Given the description of an element on the screen output the (x, y) to click on. 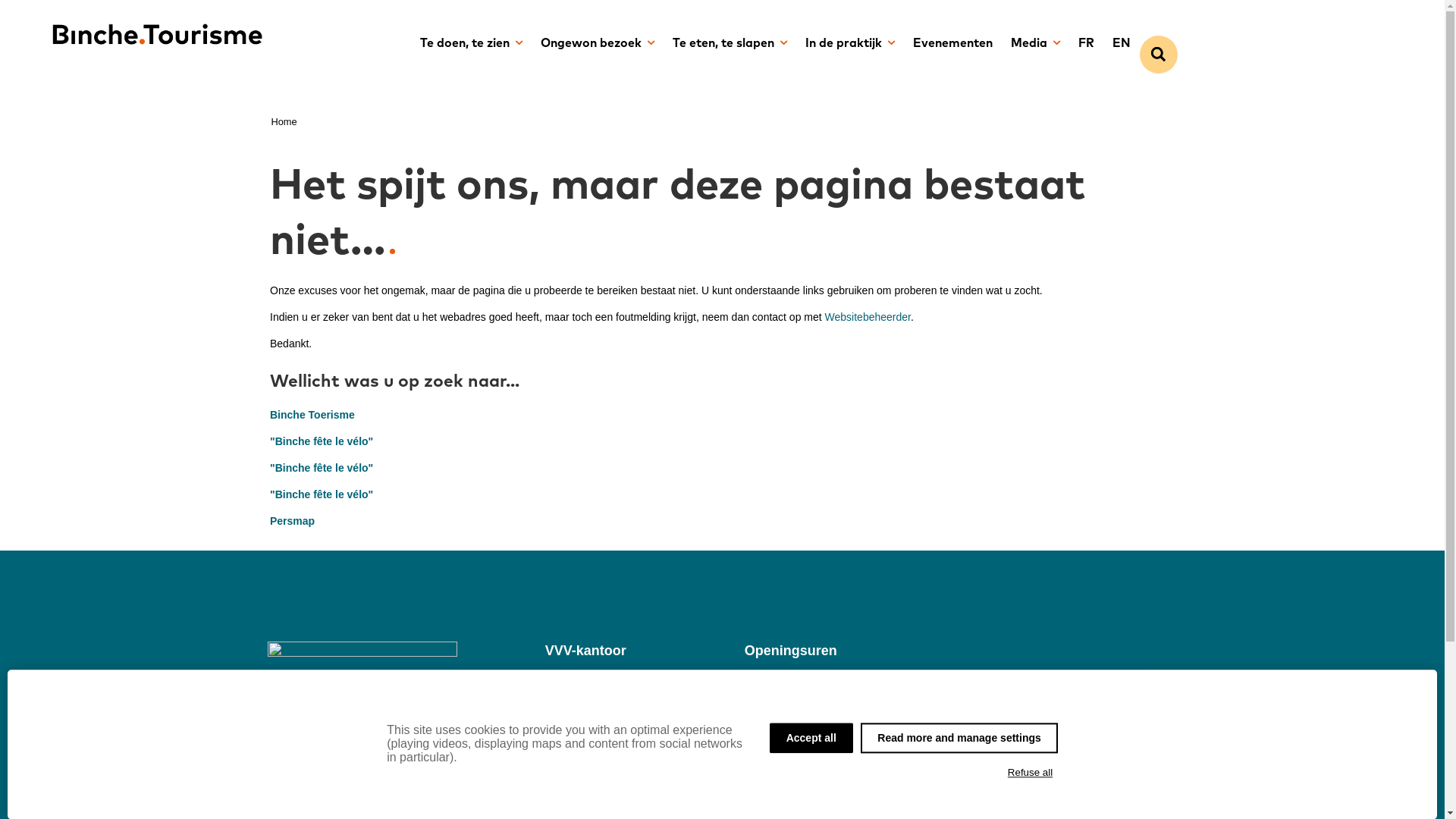
Chercher Element type: text (1157, 54)
Youtube Element type: text (567, 798)
Websitebeheerder Element type: text (867, 316)
Te eten, te slapen Element type: text (728, 43)
FR Element type: text (1086, 43)
EN Element type: text (1120, 43)
Accept all Element type: text (811, 737)
In de praktijk Element type: text (849, 43)
logo-ft Element type: hover (361, 654)
Home Element type: text (284, 121)
Te doen, te zien Element type: text (471, 43)
Media Element type: text (1034, 43)
Binche Toerisme Element type: text (311, 414)
Ongewon bezoek Element type: text (596, 43)
Facebook Element type: text (571, 764)
Persmap Element type: text (291, 520)
Evenementen Element type: text (952, 43)
Refuse all Element type: text (1029, 772)
Read more and manage settings Element type: text (958, 737)
